Given the description of an element on the screen output the (x, y) to click on. 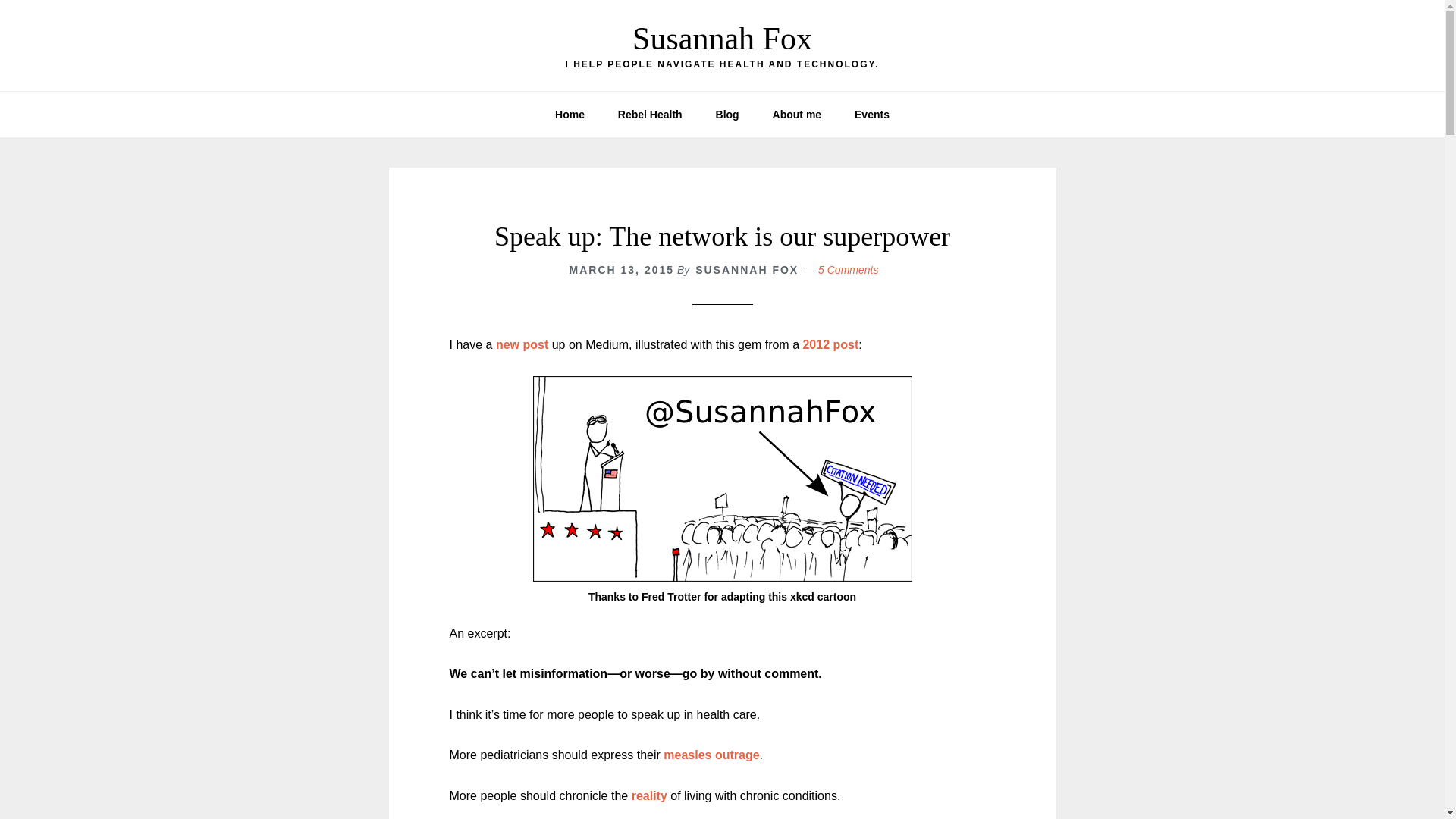
Rebel Health (649, 114)
About me (797, 114)
Home (569, 114)
SUSANNAH FOX (746, 269)
new post (522, 344)
Events (872, 114)
5 Comments (847, 269)
2012 post (830, 344)
reality (648, 795)
measles outrage (710, 754)
Susannah Fox (721, 38)
Blog (727, 114)
